Given the description of an element on the screen output the (x, y) to click on. 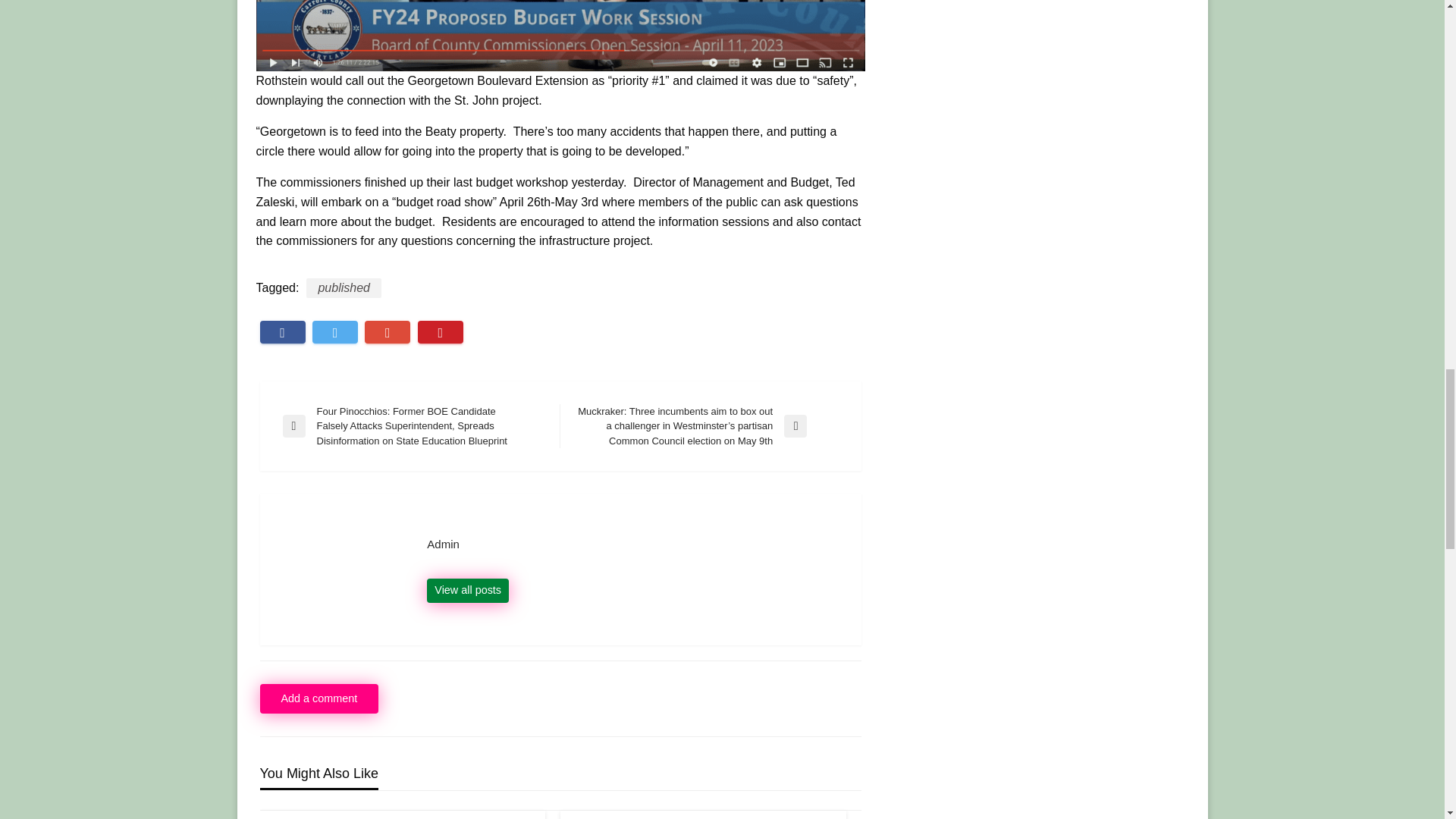
admin (632, 544)
admin (467, 590)
